Given the description of an element on the screen output the (x, y) to click on. 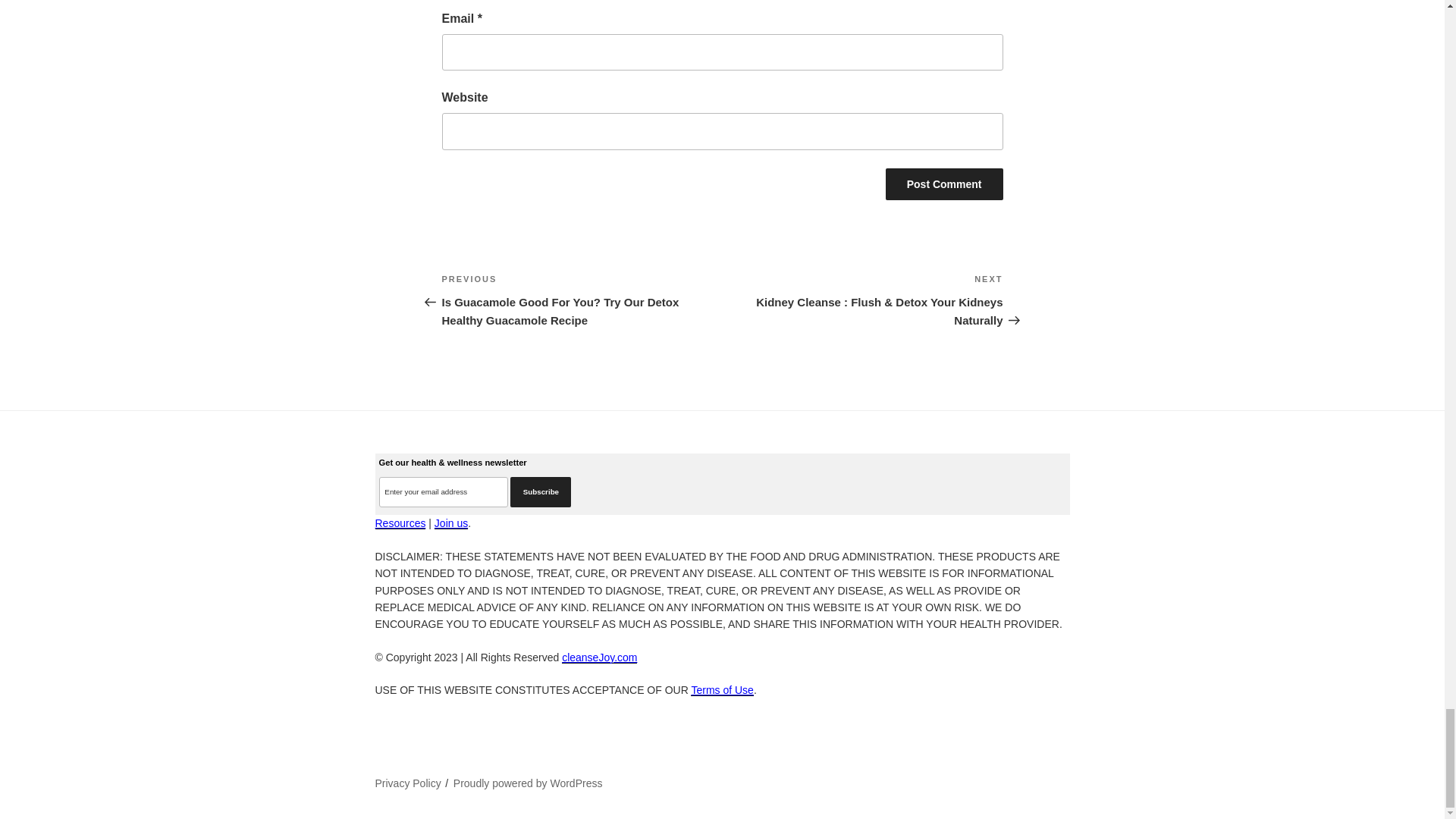
Post Comment (944, 183)
Subscribe (540, 491)
